Given the description of an element on the screen output the (x, y) to click on. 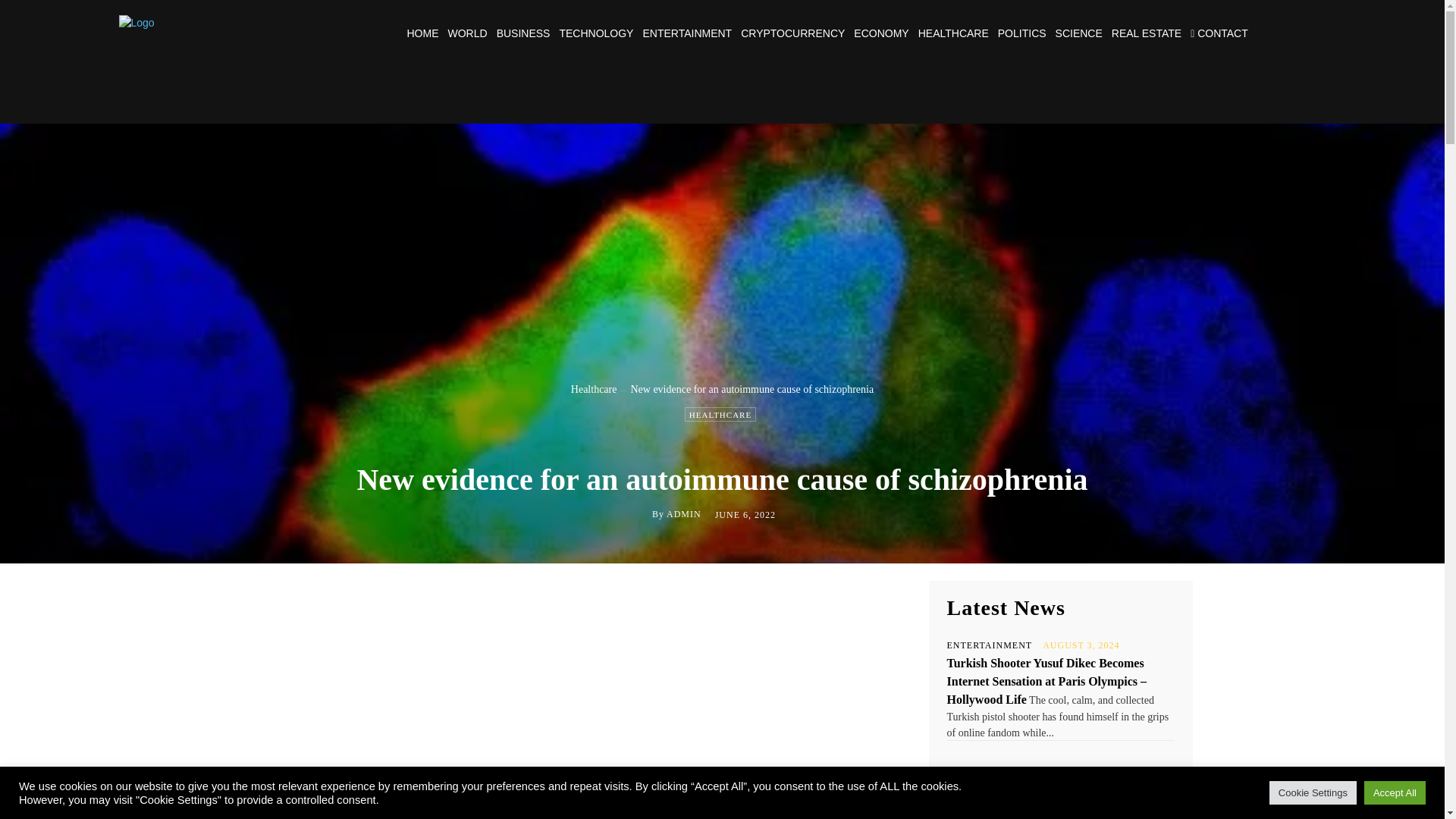
SCIENCE (1078, 33)
ADMIN (683, 513)
TECHNOLOGY (596, 33)
CONTACT (1219, 33)
Healthcare (593, 389)
BUSINESS (523, 33)
ENTERTAINMENT (687, 33)
POLITICS (1021, 33)
HEALTHCARE (953, 33)
HEALTHCARE (719, 414)
